Given the description of an element on the screen output the (x, y) to click on. 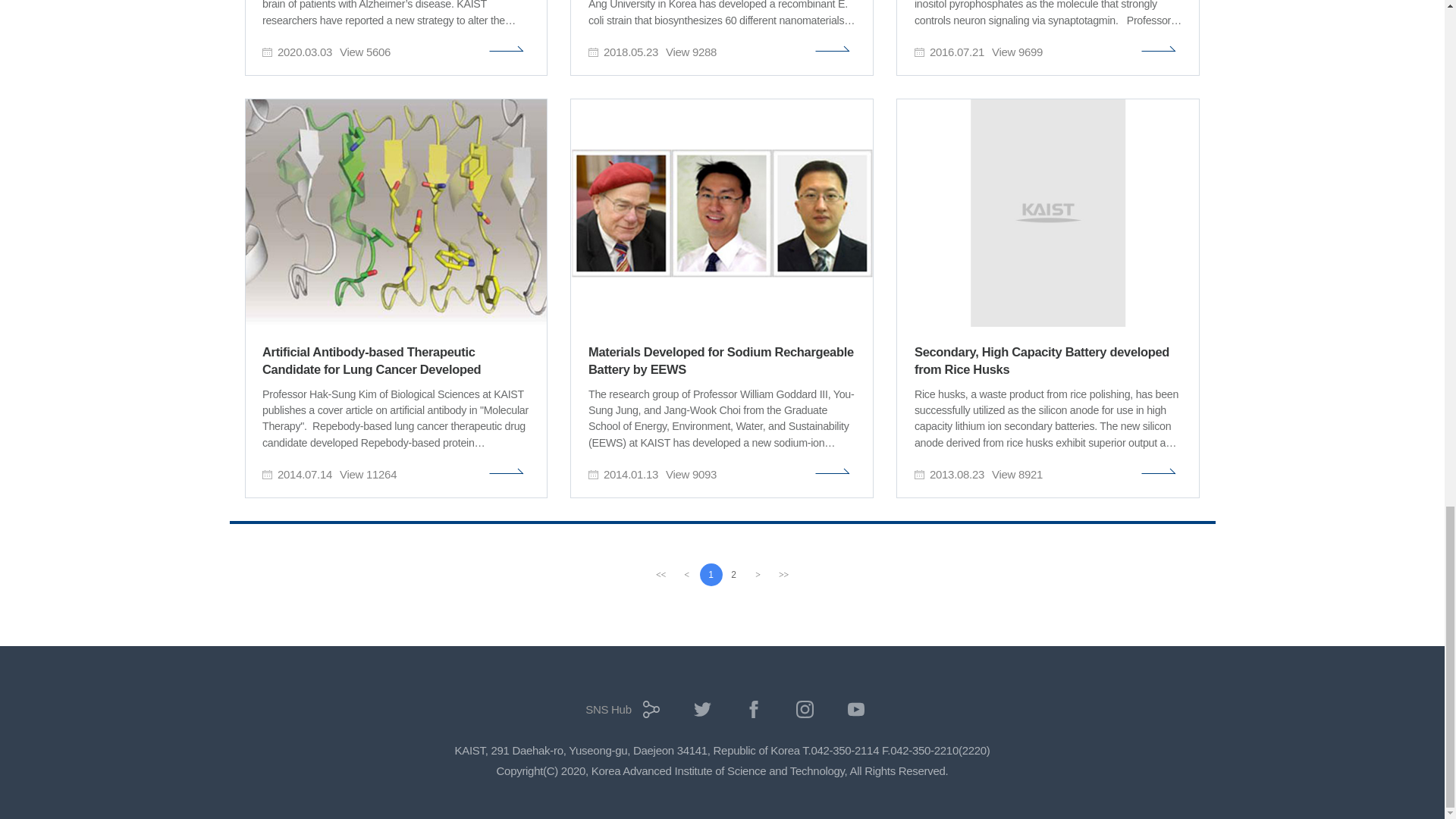
SNS Hub (619, 715)
2 (733, 574)
1 (710, 574)
